Given the description of an element on the screen output the (x, y) to click on. 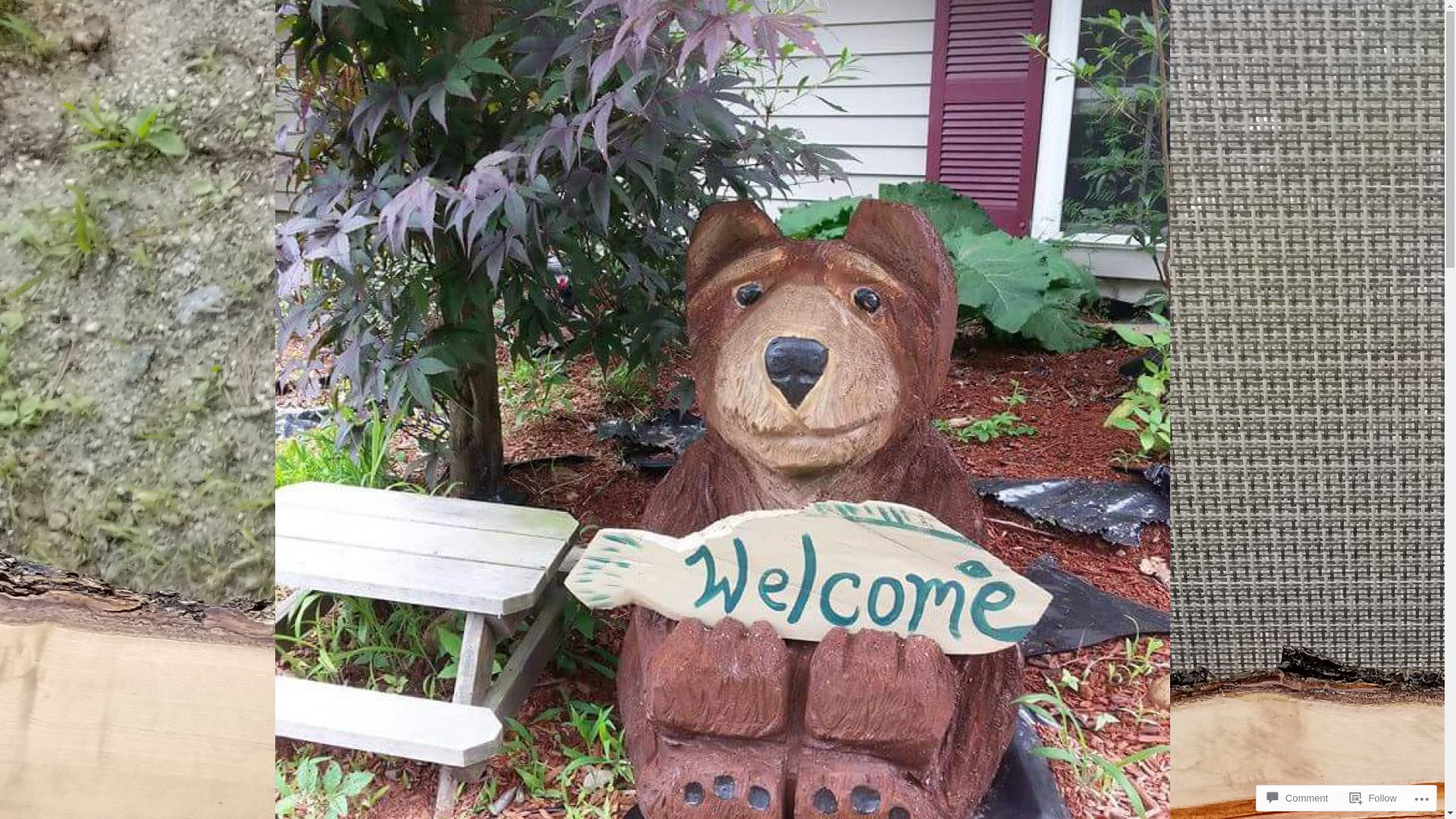
Follow Element type: text (1372, 797)
Search Element type: text (33, 15)
Comment Element type: text (1297, 797)
